Given the description of an element on the screen output the (x, y) to click on. 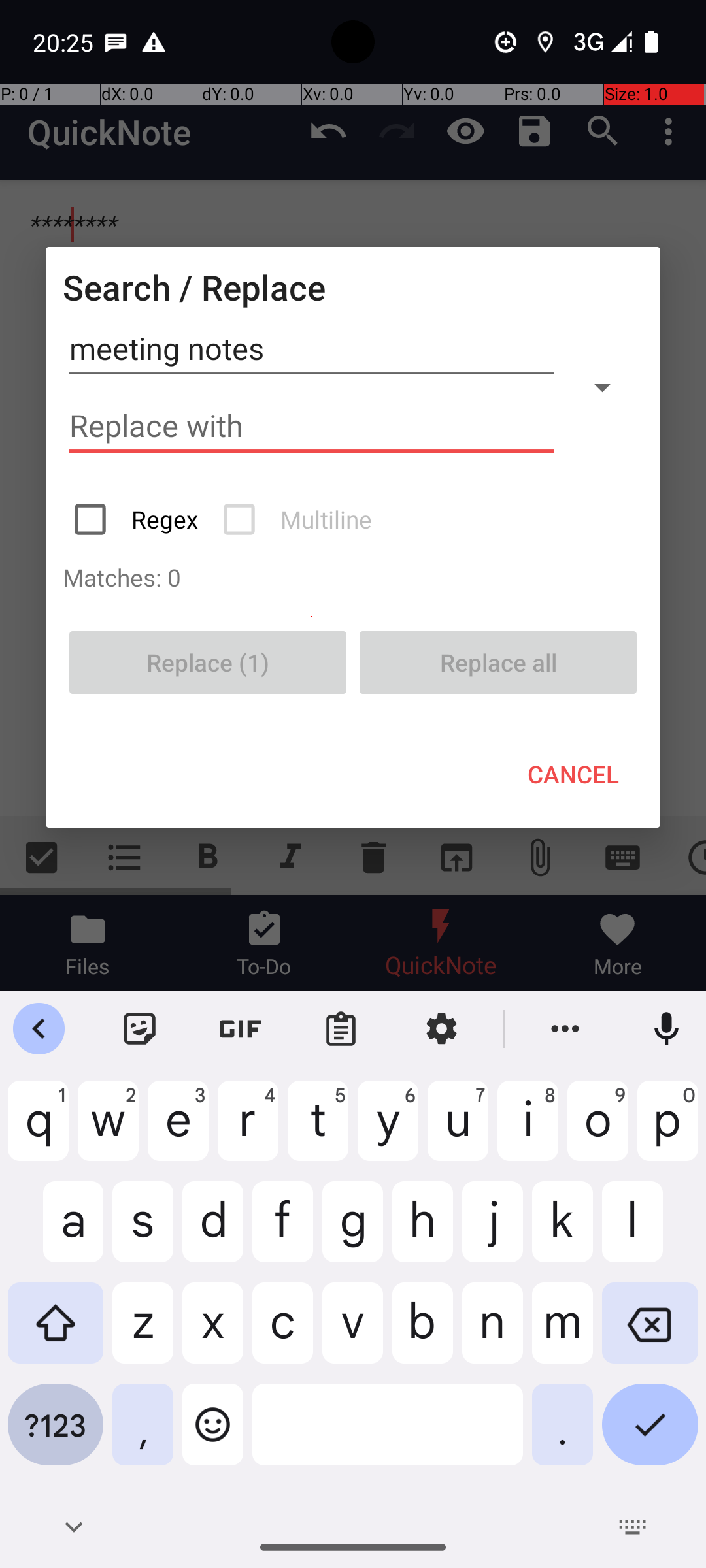
Search / Replace Element type: android.widget.TextView (193, 286)
meeting notes Element type: android.widget.EditText (311, 348)
Replace with Element type: android.widget.EditText (311, 425)
Choose format Element type: android.widget.TextView (601, 386)
Regex Element type: android.widget.CheckBox (136, 518)
Multiline Element type: android.widget.CheckBox (298, 518)
Matches: 0 Element type: android.widget.TextView (352, 576)
Replace (1) Element type: android.widget.Button (207, 662)
Replace all Element type: android.widget.Button (498, 662)
20:25 Element type: android.widget.TextView (64, 41)
